Given the description of an element on the screen output the (x, y) to click on. 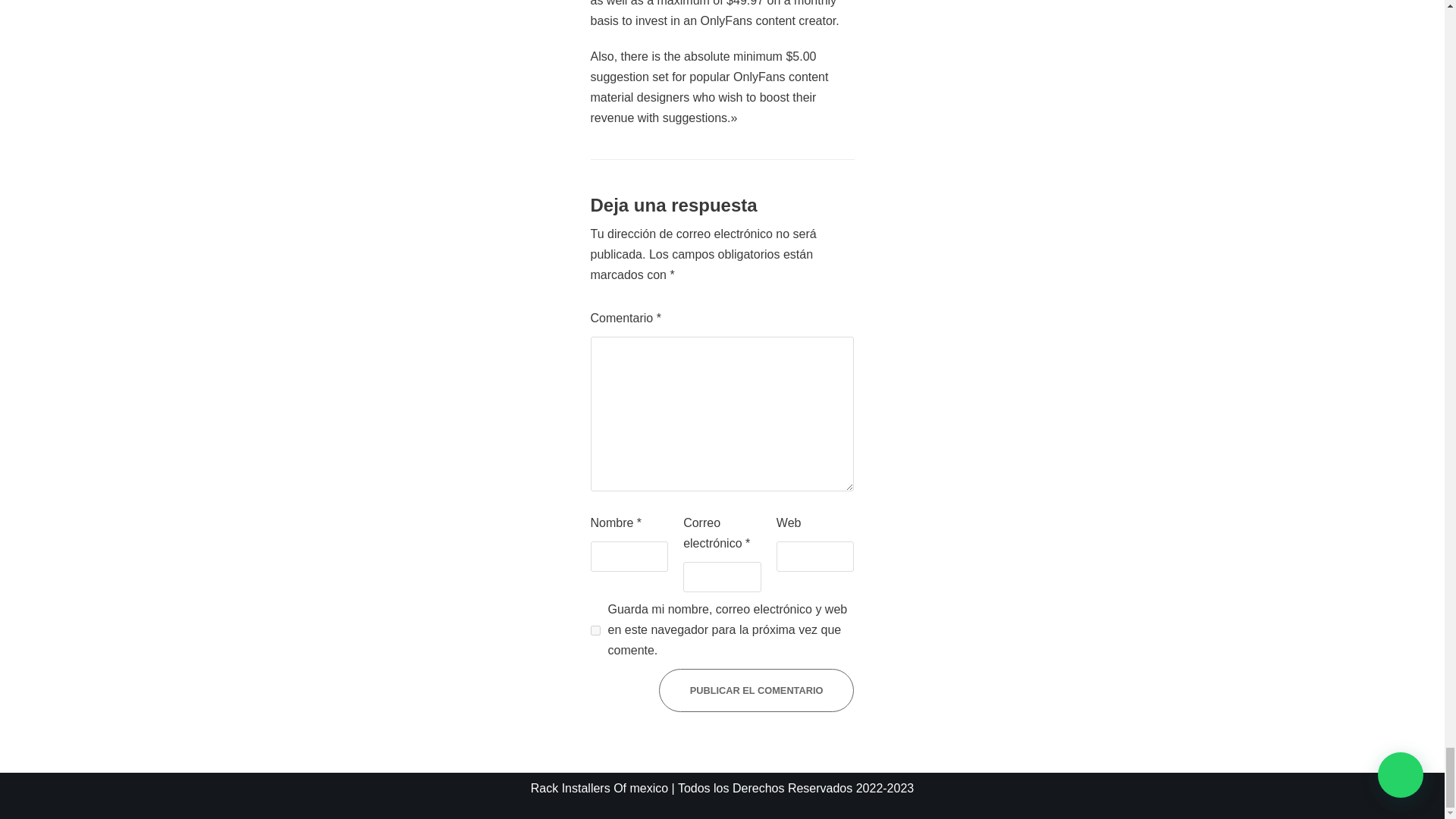
yes (594, 630)
Rack Installers Of mexico (599, 788)
Publicar el comentario (756, 690)
Publicar el comentario (756, 690)
